Given the description of an element on the screen output the (x, y) to click on. 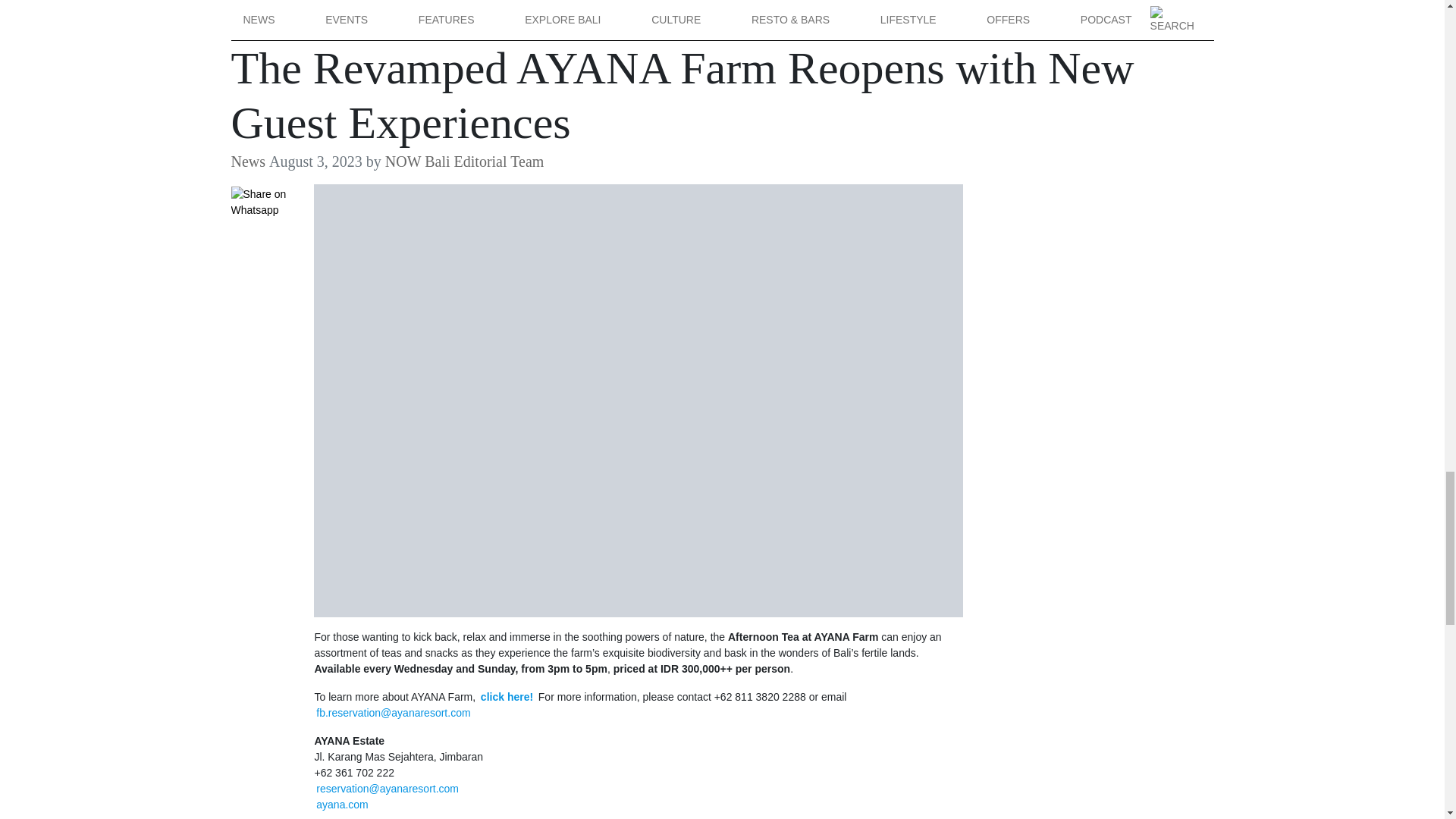
ayana.com (341, 804)
click here! (507, 696)
